Given the description of an element on the screen output the (x, y) to click on. 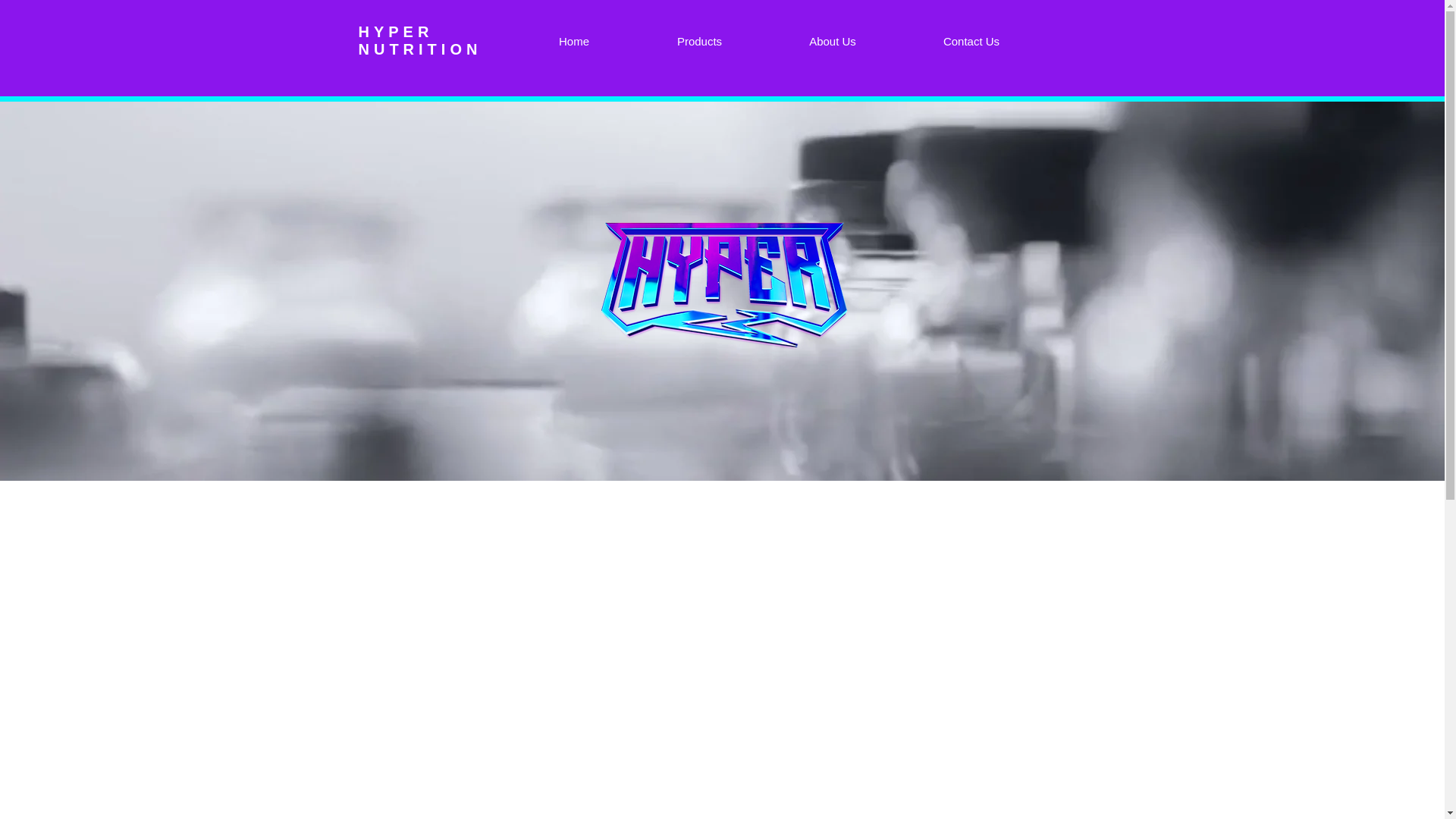
Contact Us (970, 41)
About Us (832, 41)
Home (573, 41)
HYPER NUTRITION (419, 40)
Products (699, 41)
